Given the description of an element on the screen output the (x, y) to click on. 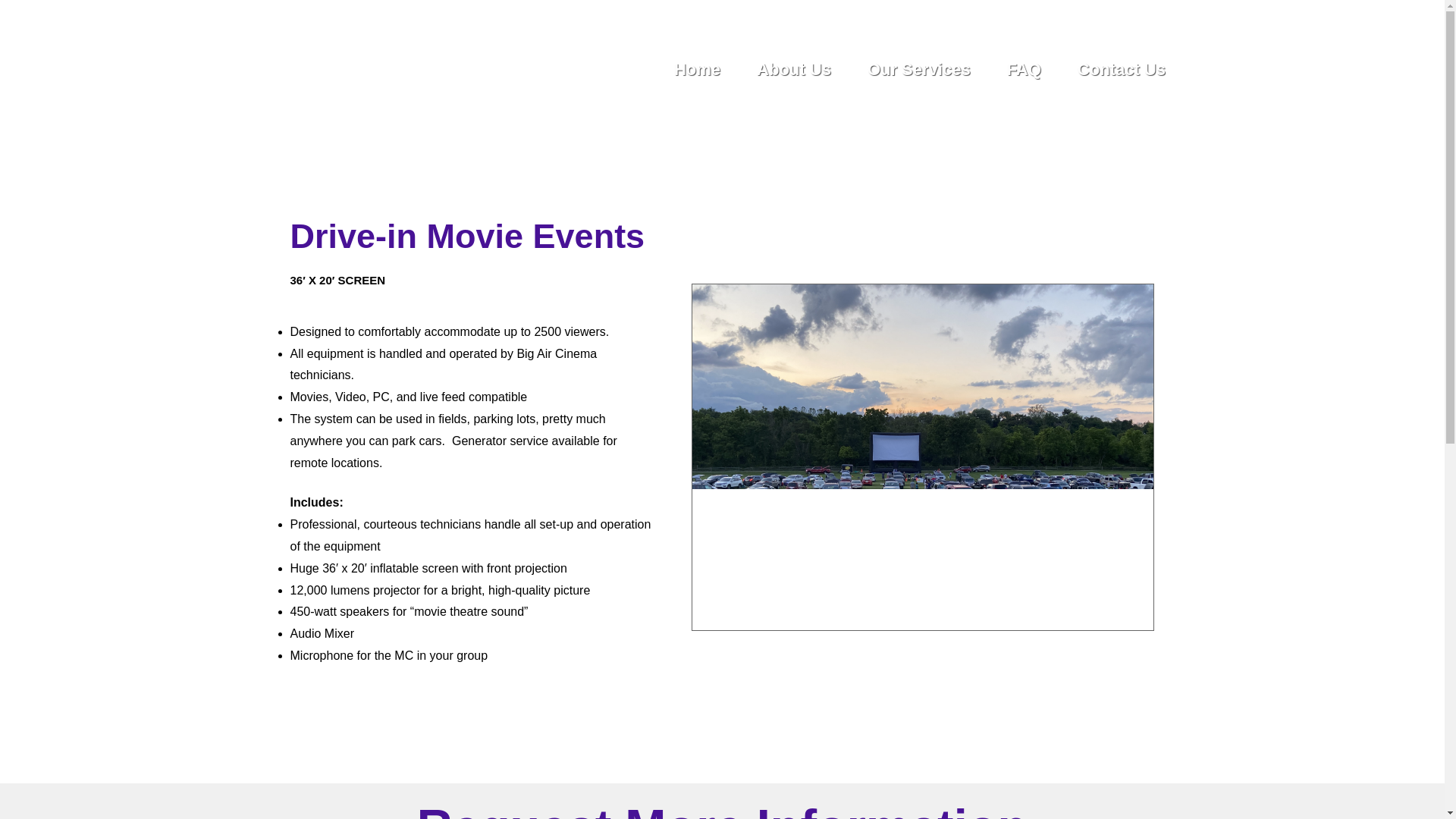
Home (697, 69)
About Us (793, 69)
Our Services (918, 69)
Contact Us (1121, 69)
